Given the description of an element on the screen output the (x, y) to click on. 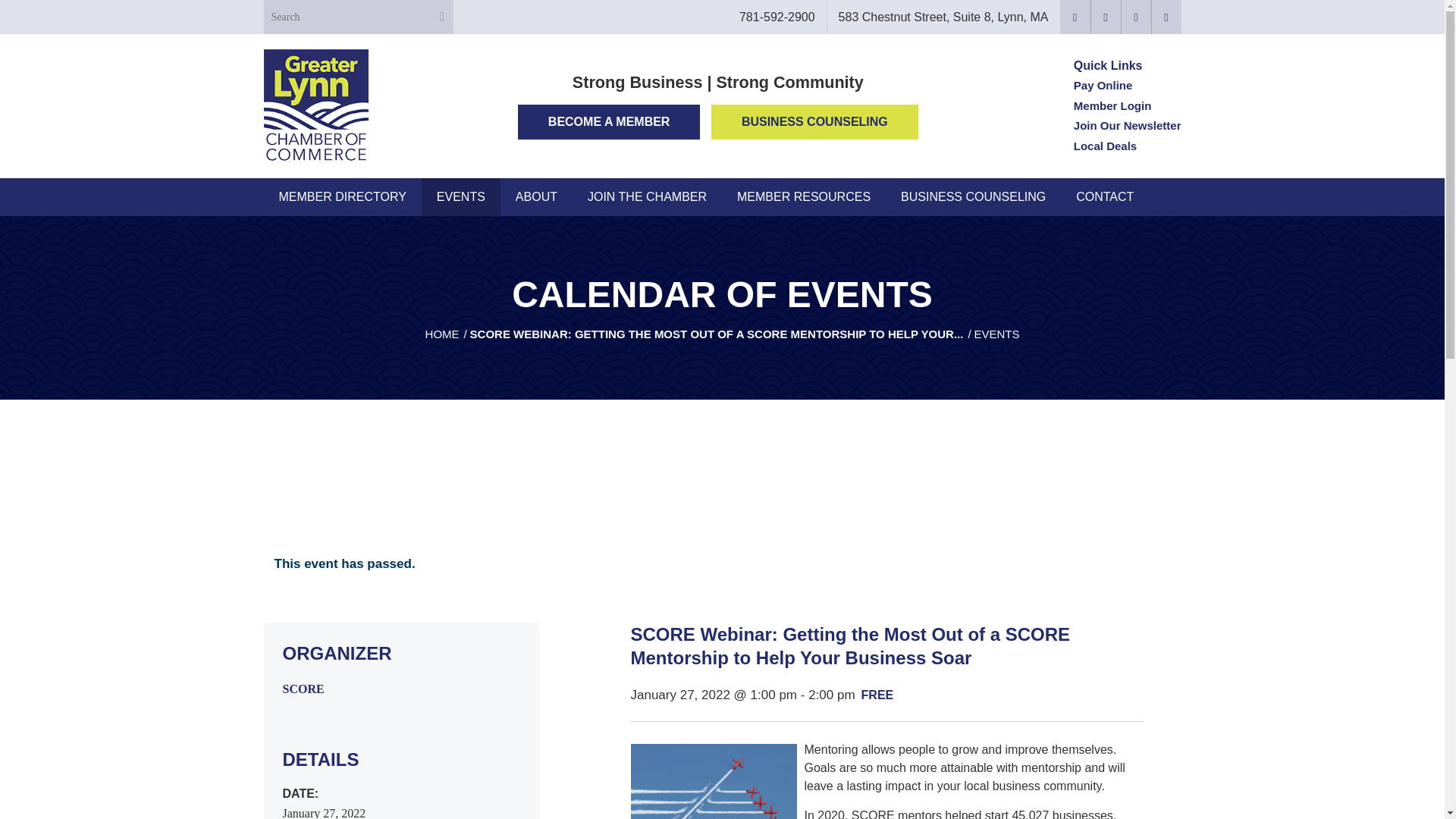
SCORE (302, 688)
BUSINESS COUNSELING (973, 197)
Events (996, 333)
583 Chestnut Street, Suite 8, Lynn, MA (943, 16)
BECOME A MEMBER (609, 121)
MEMBER DIRECTORY (342, 197)
Greater Lynn Chamber of Commerce (442, 333)
JOIN THE CHAMBER (647, 197)
ABOUT (536, 197)
CONTACT (1104, 197)
